Given the description of an element on the screen output the (x, y) to click on. 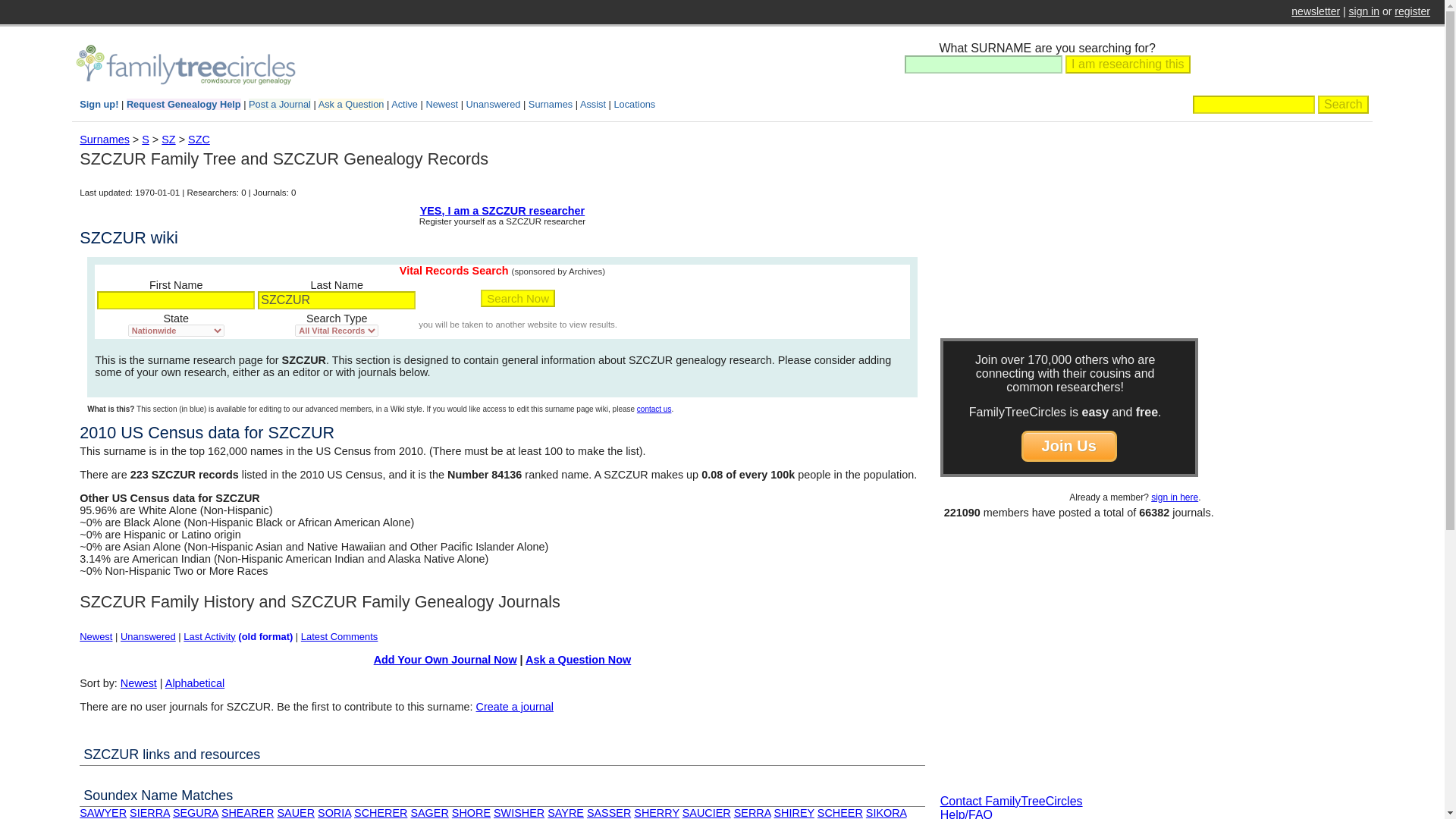
Search (1342, 104)
Unanswered (148, 636)
Ask a Question Now (577, 659)
Ask a Question (351, 103)
SZCZUR (335, 300)
SEGURA (195, 812)
SAWYER (103, 812)
Surnames (550, 103)
Alphabetical (194, 683)
SORIA (333, 812)
